Given the description of an element on the screen output the (x, y) to click on. 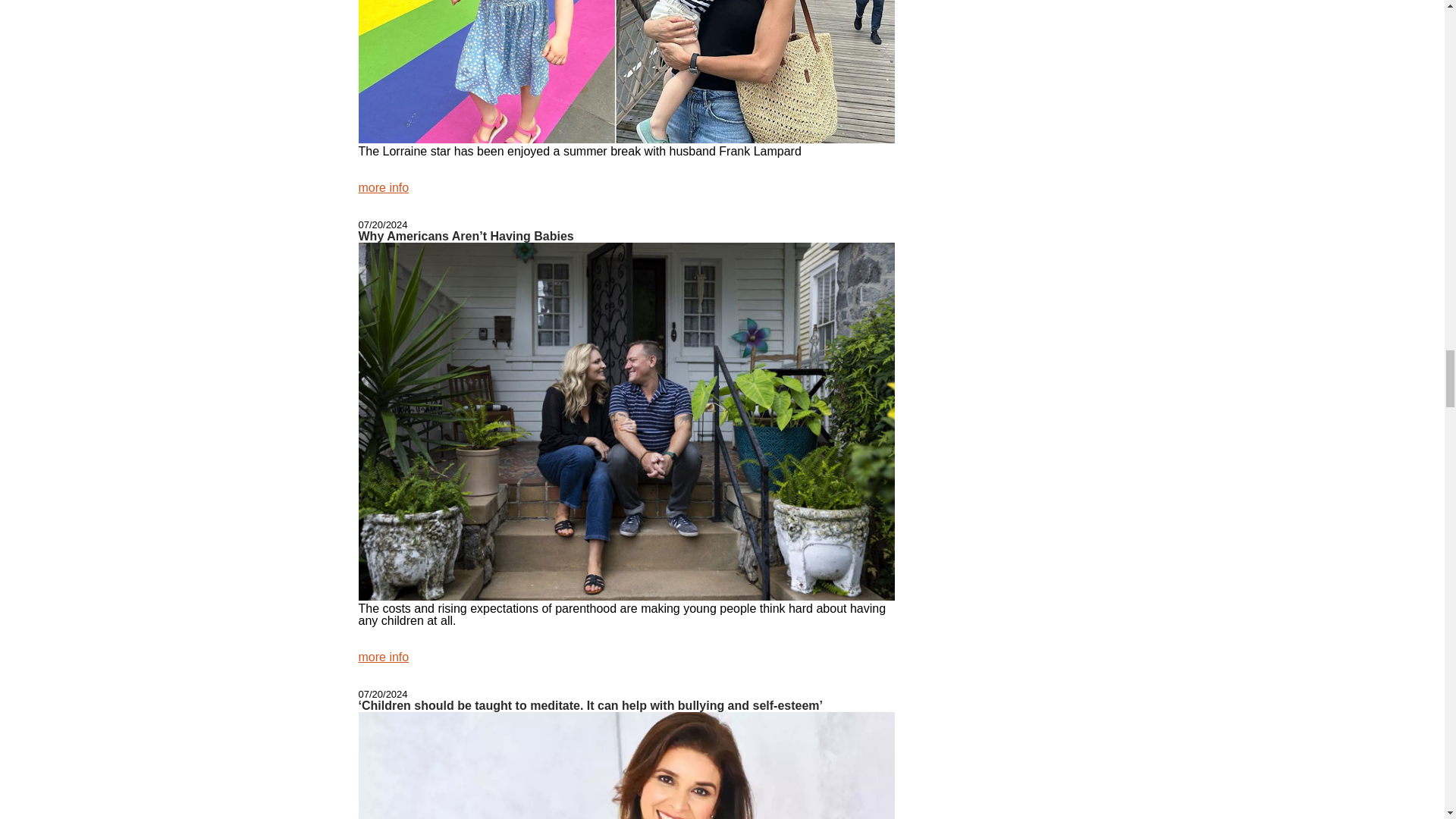
more info (383, 187)
more info (383, 656)
